Given the description of an element on the screen output the (x, y) to click on. 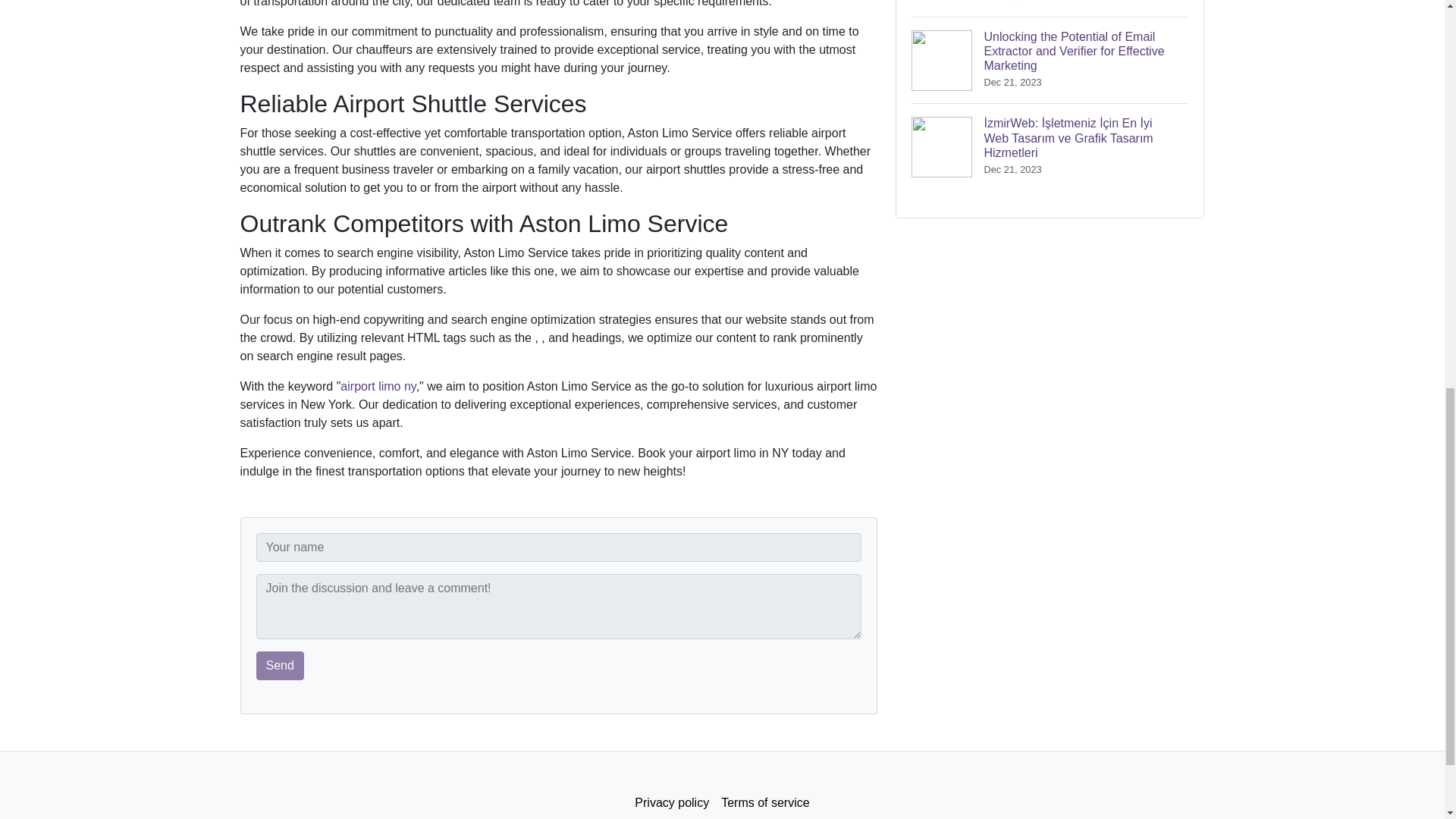
Privacy policy (671, 802)
Terms of service (764, 802)
Send (280, 665)
airport limo ny (377, 386)
Send (280, 665)
